Given the description of an element on the screen output the (x, y) to click on. 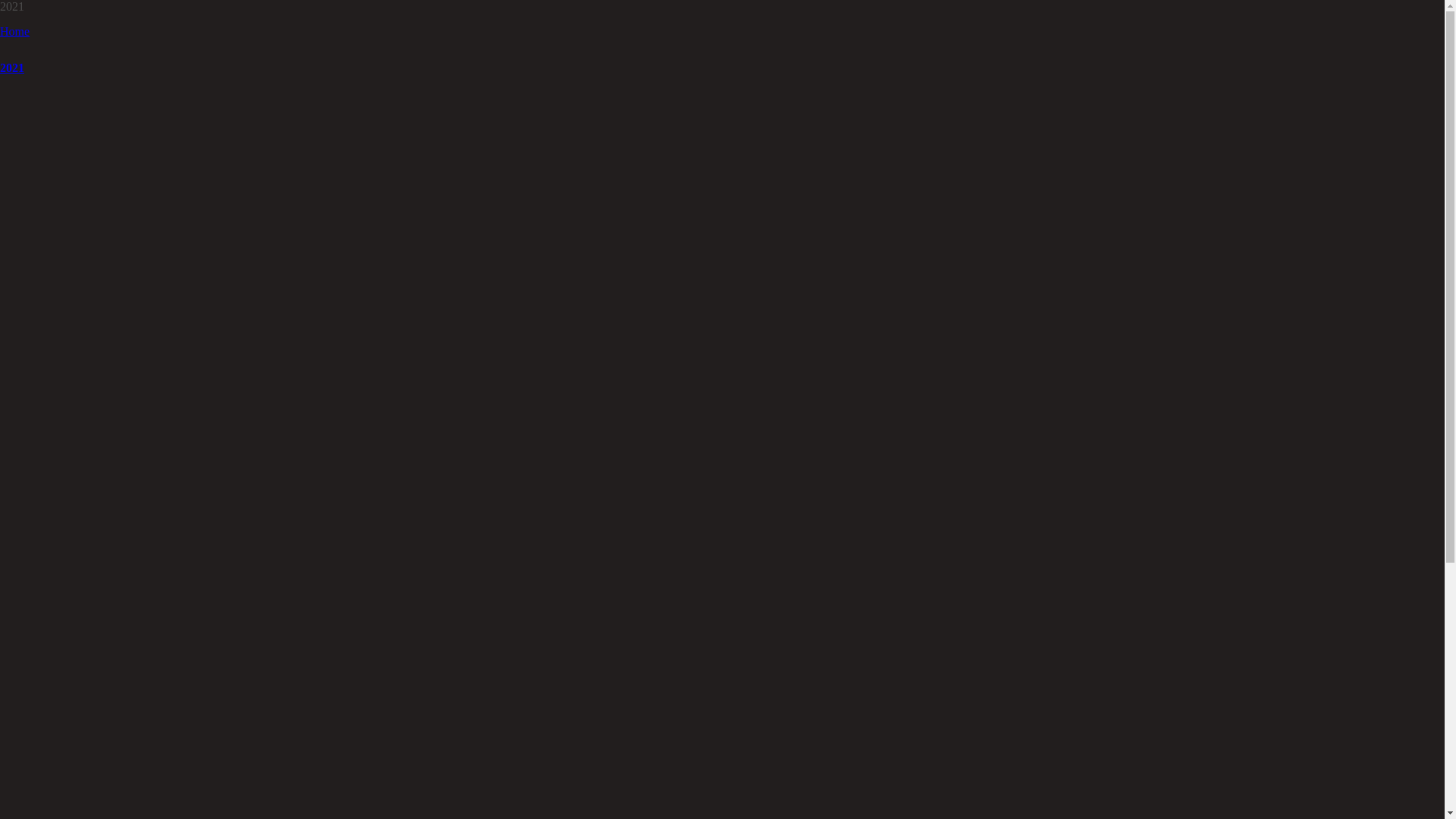
Home Element type: text (14, 31)
2021 Element type: text (12, 67)
